Given the description of an element on the screen output the (x, y) to click on. 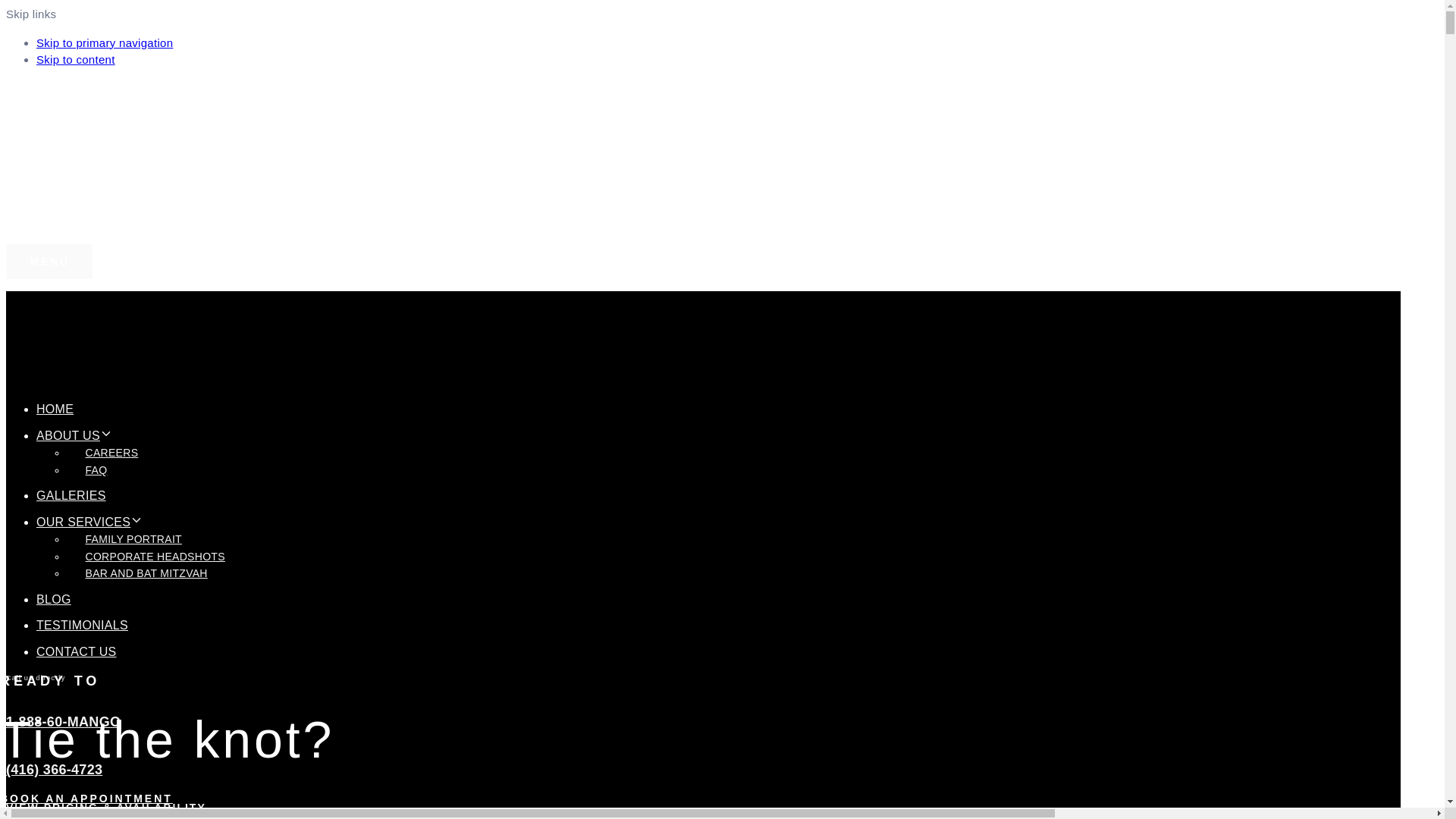
CORPORATE HEADSHOTS (154, 556)
CONTACT US (76, 650)
1-888-60-MANGO (62, 721)
OUR SERVICES (89, 521)
TESTIMONIALS (82, 625)
Skip to primary navigation (104, 42)
BOOK AN APPOINTMENT (122, 87)
FAQ (95, 469)
HOME (55, 408)
MENU (49, 260)
